Given the description of an element on the screen output the (x, y) to click on. 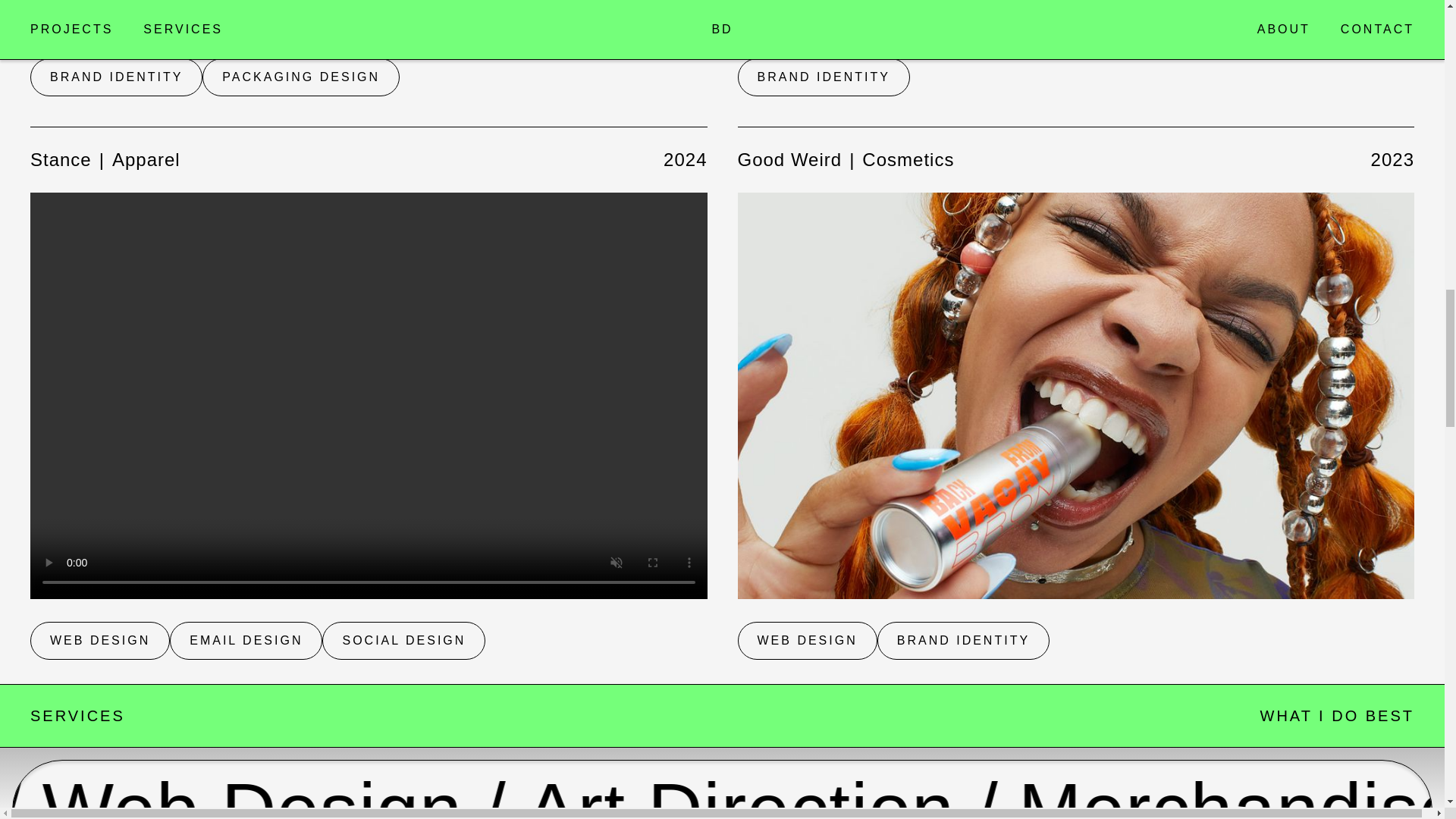
BRAND IDENTITY (368, 640)
